Given the description of an element on the screen output the (x, y) to click on. 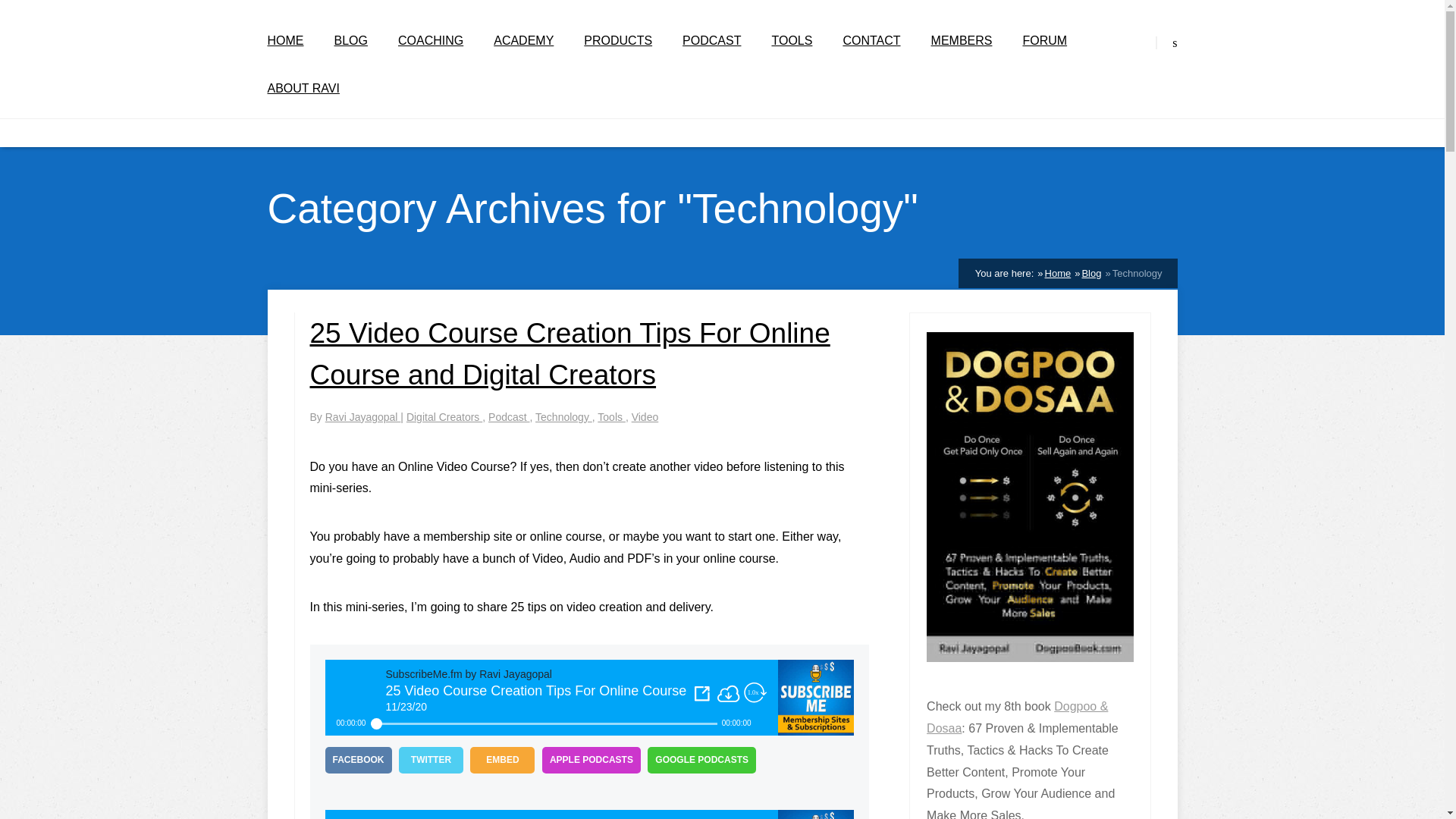
FORUM (1044, 40)
APPLE PODCASTS (590, 759)
Increase Player Speed (755, 693)
COACHING (430, 40)
HOME (284, 40)
Technology (563, 417)
Download This Episode (728, 693)
Home (1058, 272)
Ravi Jayagopal (362, 417)
Video (645, 417)
ACADEMY (523, 40)
FACEBOOK (357, 759)
PODCAST (711, 40)
GOOGLE PODCASTS (701, 759)
